Given the description of an element on the screen output the (x, y) to click on. 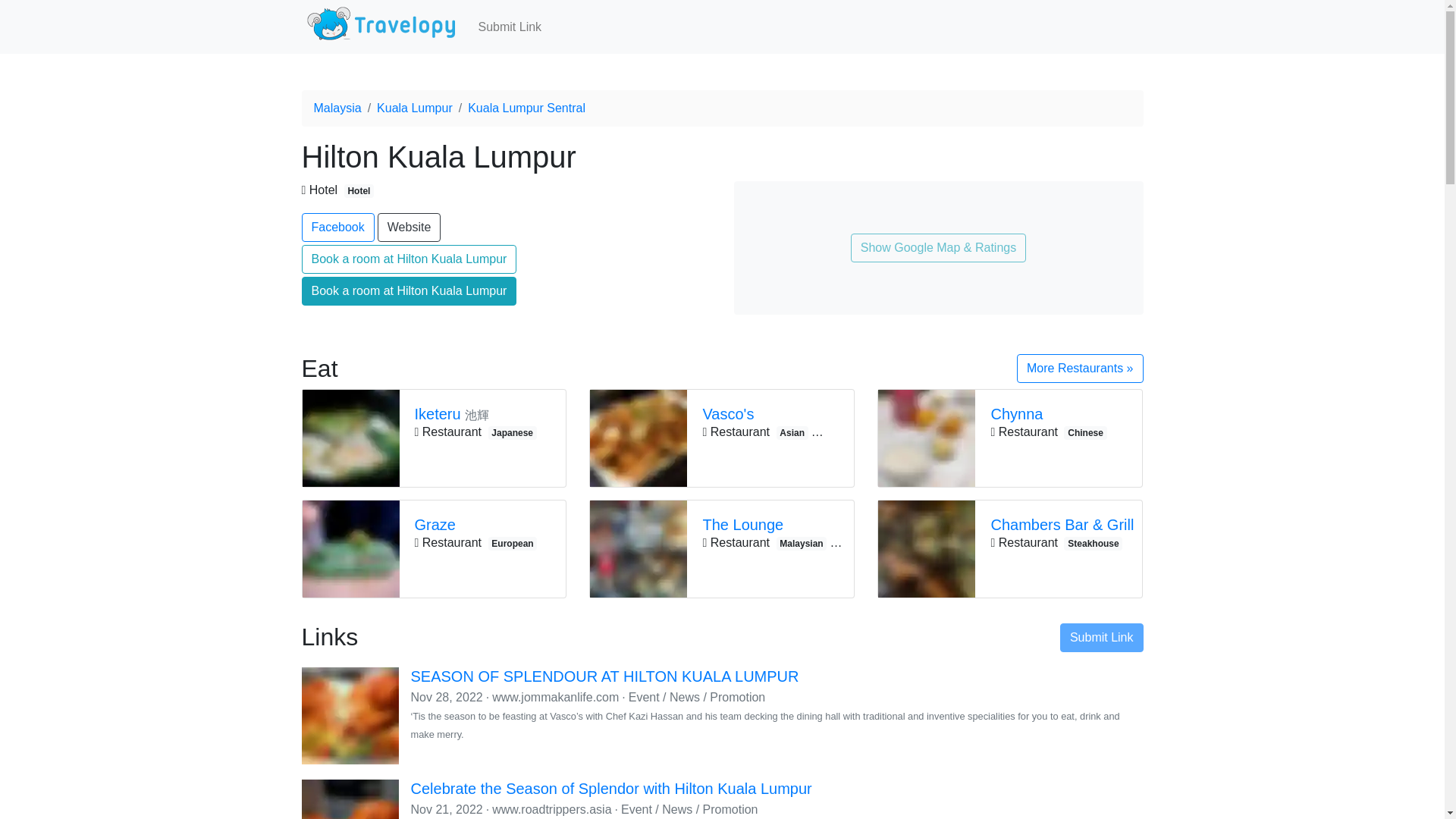
Submit Link (1100, 637)
Celebrate the Season of Splendor with Hilton Kuala Lumpur (611, 788)
Book a room at Hilton Kuala Lumpur (408, 290)
Submit Link (509, 27)
Chynna (1058, 413)
Malaysia (337, 107)
Hotel (358, 191)
The Lounge (773, 524)
Kuala Lumpur Sentral (526, 107)
Graze (481, 524)
Book a room at Hilton Kuala Lumpur (408, 258)
Facebook (337, 226)
Kuala Lumpur (414, 107)
SEASON OF SPLENDOUR AT HILTON KUALA LUMPUR (604, 676)
Website (409, 226)
